Given the description of an element on the screen output the (x, y) to click on. 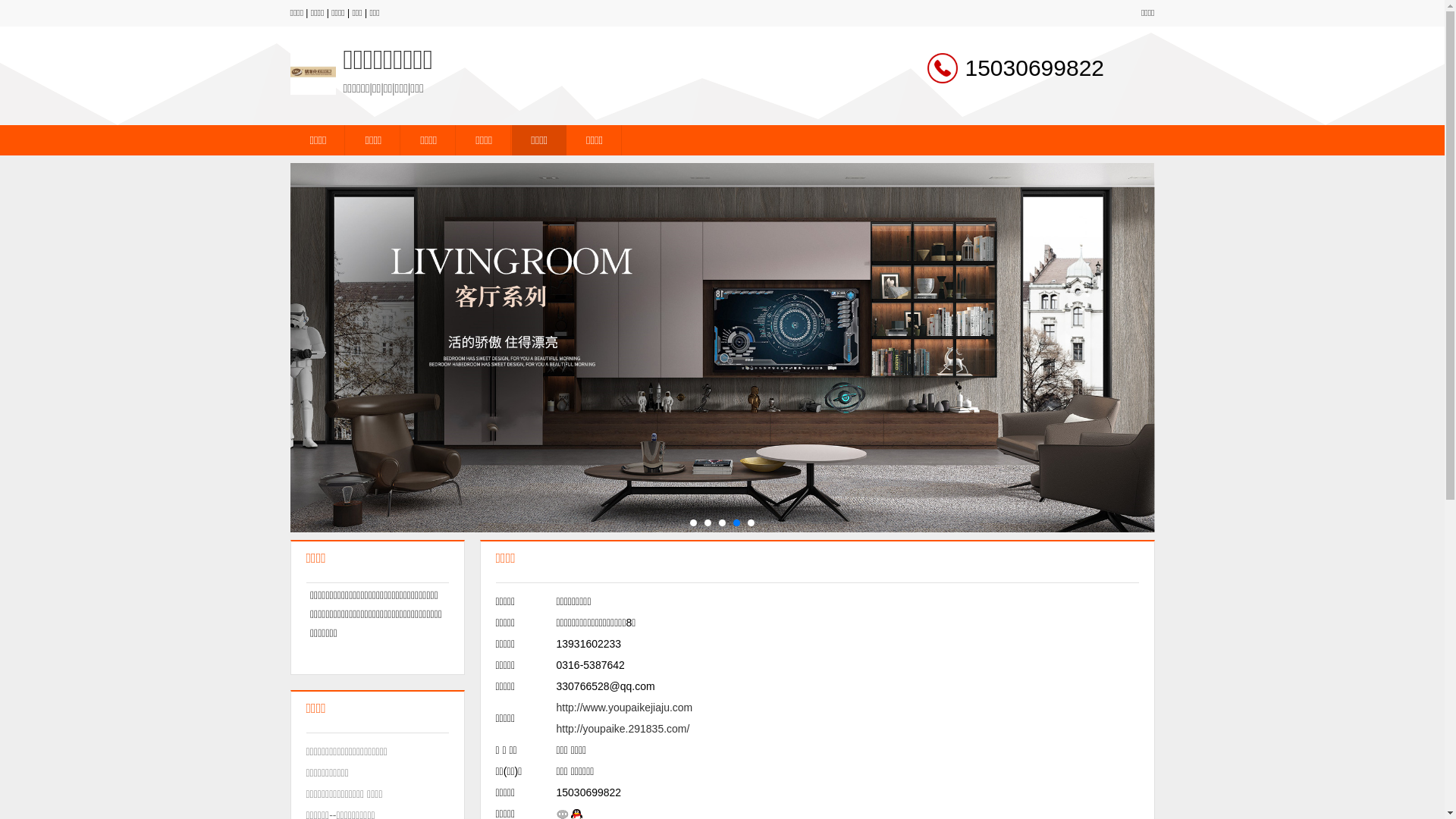
http://youpaike.291835.com/ Element type: text (623, 728)
http://www.youpaikejiaju.com Element type: text (624, 707)
